Given the description of an element on the screen output the (x, y) to click on. 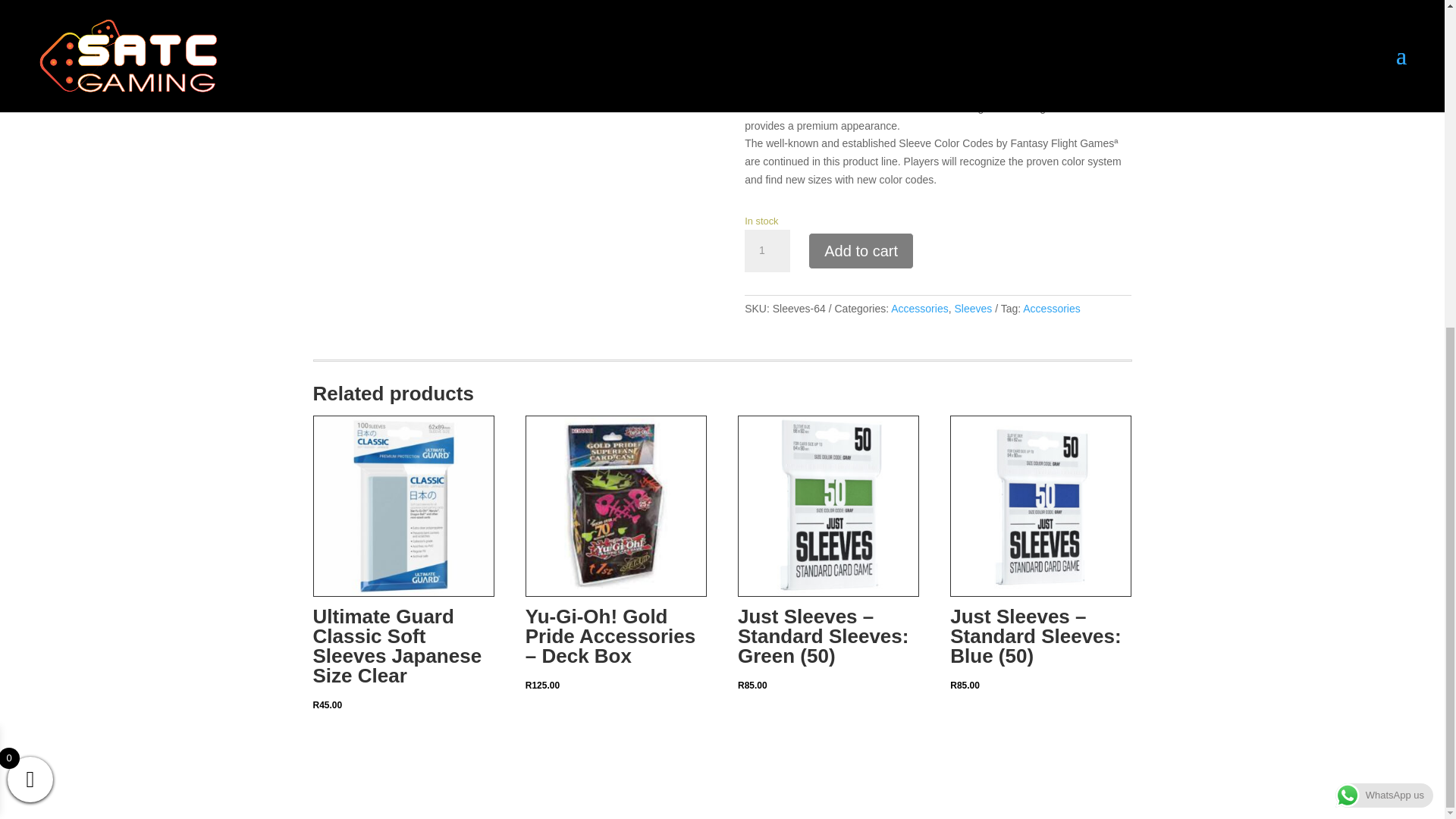
Accessories (919, 308)
Add to cart (861, 250)
1 (767, 250)
Sleeves (972, 308)
Accessories (1051, 308)
